Given the description of an element on the screen output the (x, y) to click on. 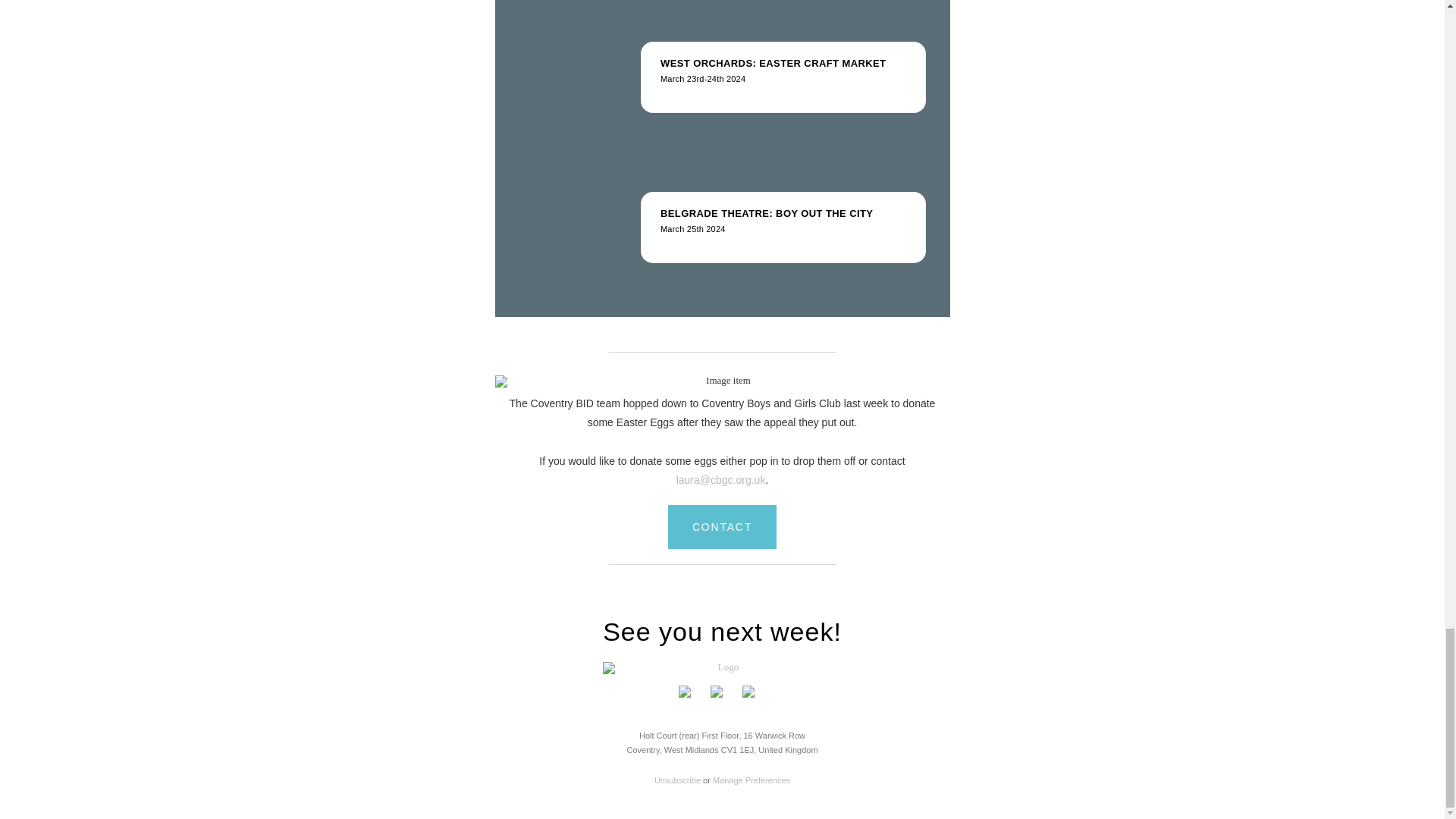
Manage Preferences (751, 779)
CONTACT (722, 526)
Unsubscribe (722, 241)
